Given the description of an element on the screen output the (x, y) to click on. 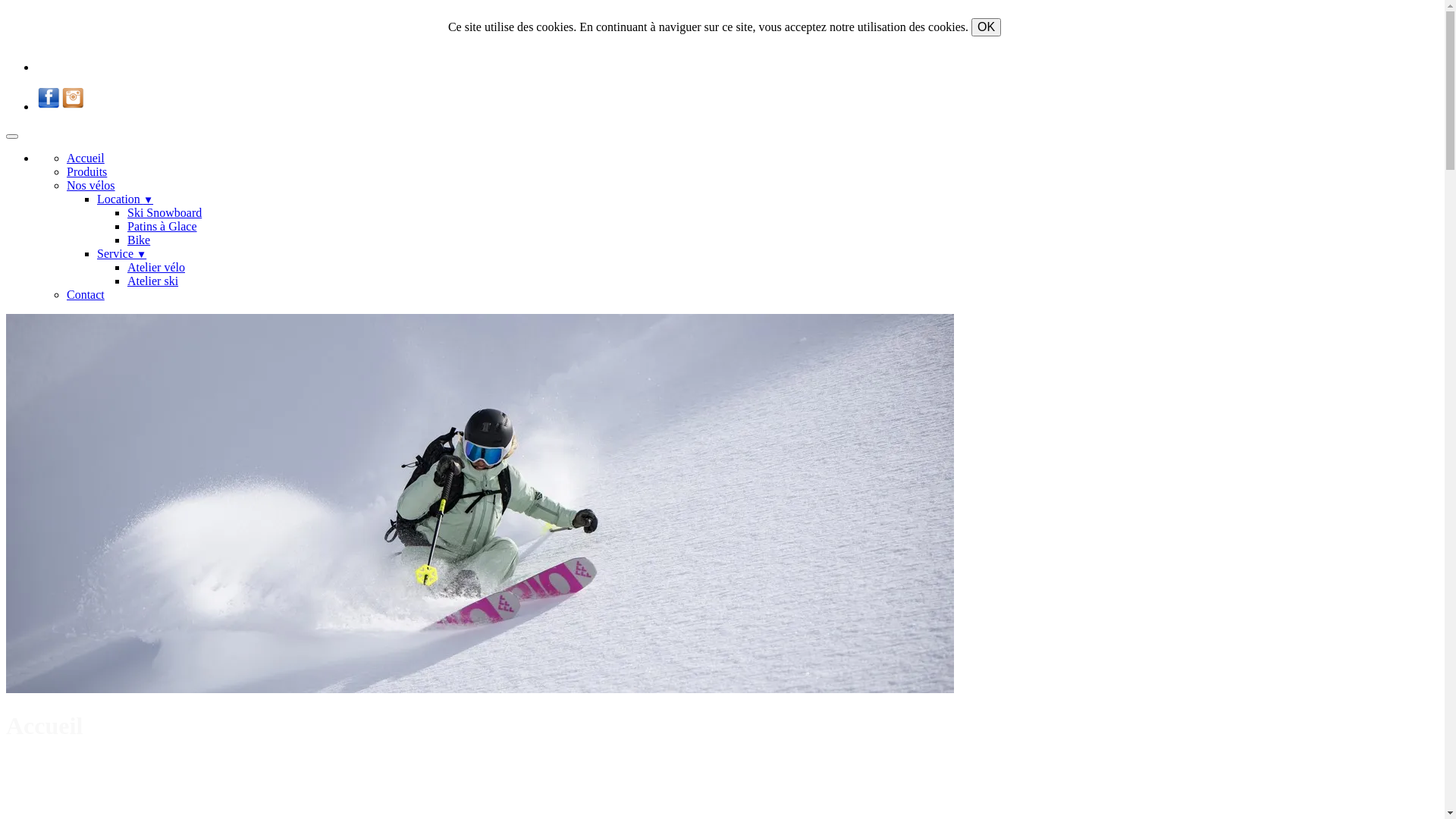
Contact Element type: text (85, 294)
Accueil Element type: text (85, 157)
Ski Snowboard Element type: text (164, 212)
Atelier ski Element type: text (152, 280)
Bike Element type: text (138, 239)
Produits Element type: text (86, 171)
OK Element type: text (986, 27)
